Given the description of an element on the screen output the (x, y) to click on. 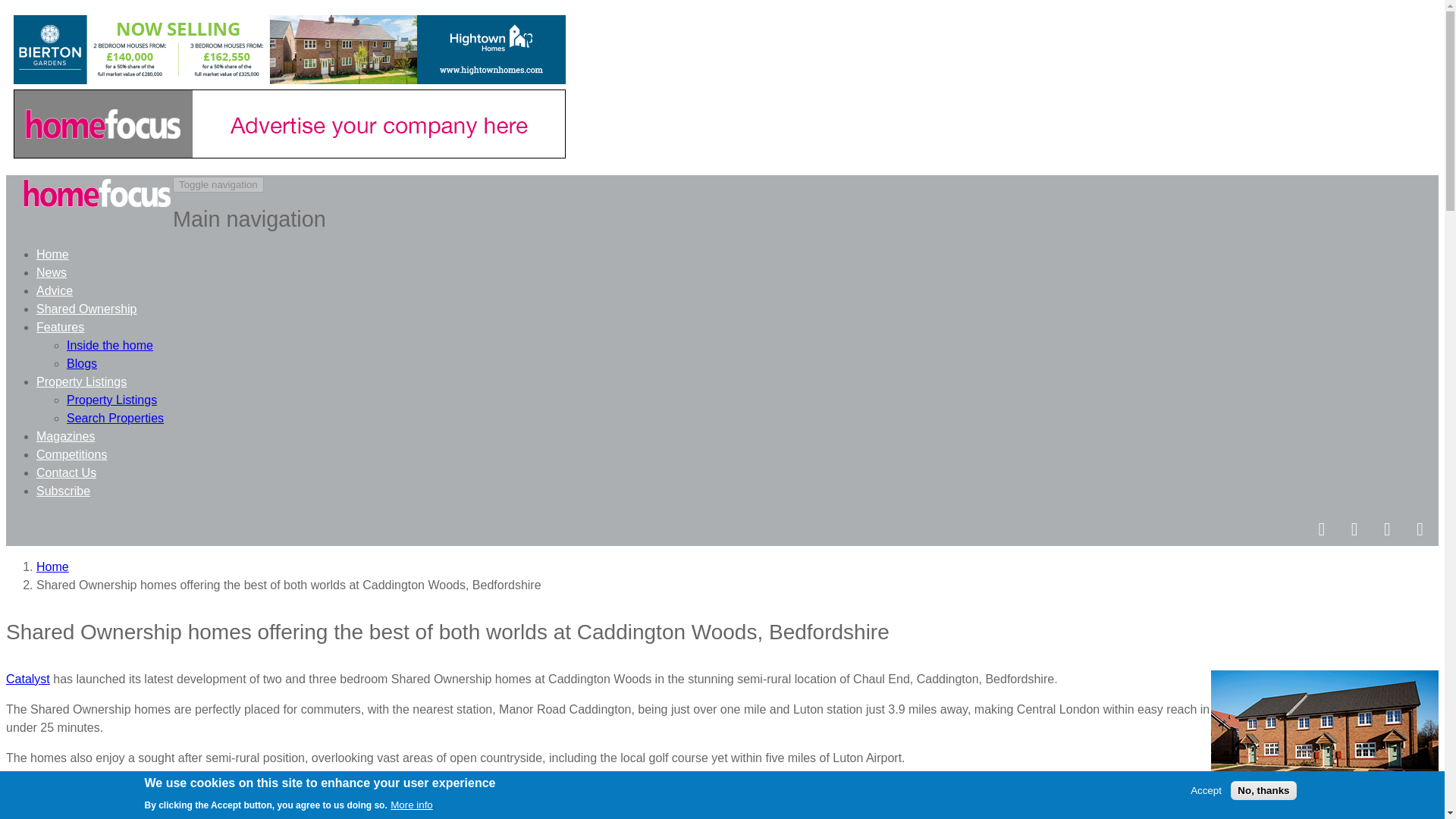
Inside the home (109, 345)
Advice (54, 290)
Subscribe (63, 490)
Shared Ownership (86, 308)
Home (52, 566)
Home (97, 197)
Contact Us (66, 472)
Property Listings (111, 399)
Competitions (71, 454)
Catalyst (27, 678)
Search Properties (114, 418)
Property Listings (81, 381)
Magazines (65, 436)
Features (60, 327)
